Given the description of an element on the screen output the (x, y) to click on. 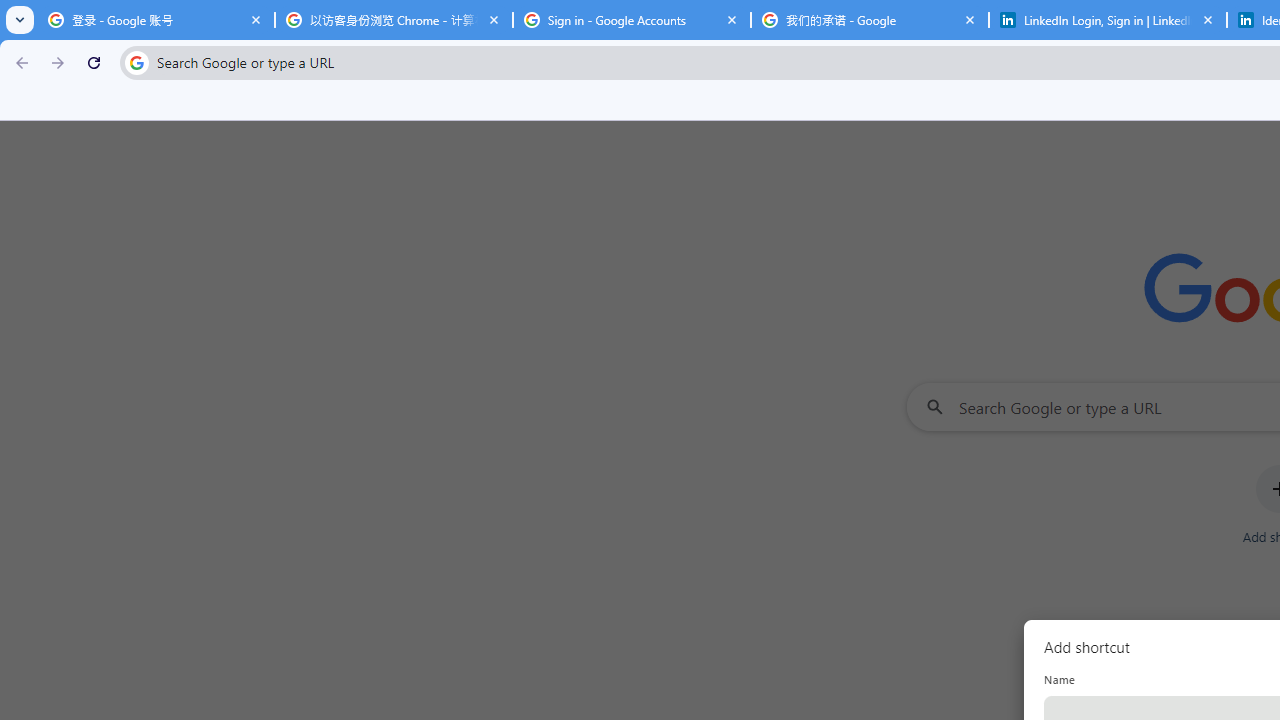
Sign in - Google Accounts (632, 20)
LinkedIn Login, Sign in | LinkedIn (1108, 20)
